Given the description of an element on the screen output the (x, y) to click on. 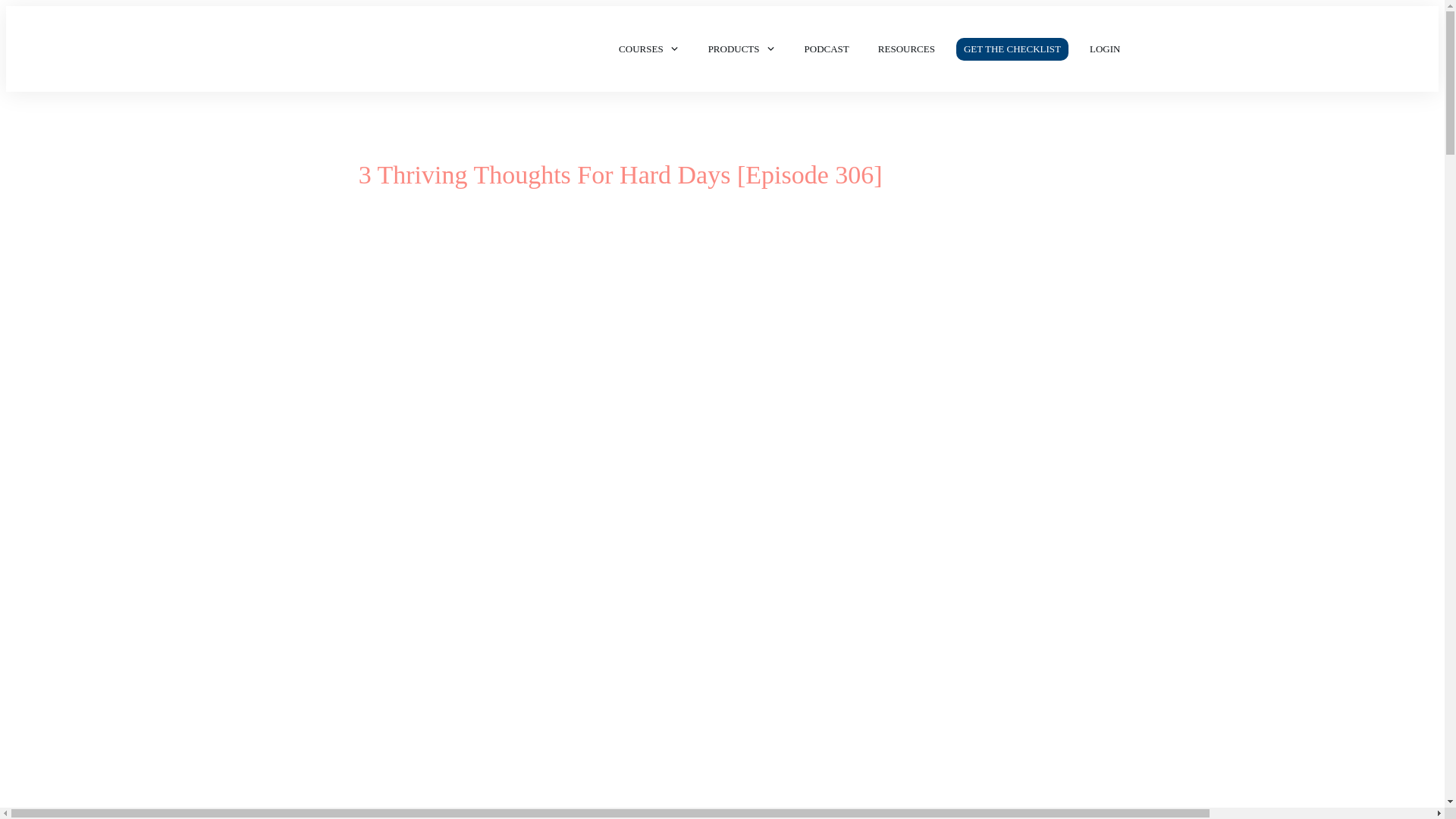
COURSES (648, 48)
LOGIN (1104, 48)
RESOURCES (905, 48)
PODCAST (826, 48)
PRODUCTS (741, 48)
GET THE CHECKLIST (1012, 48)
